Given the description of an element on the screen output the (x, y) to click on. 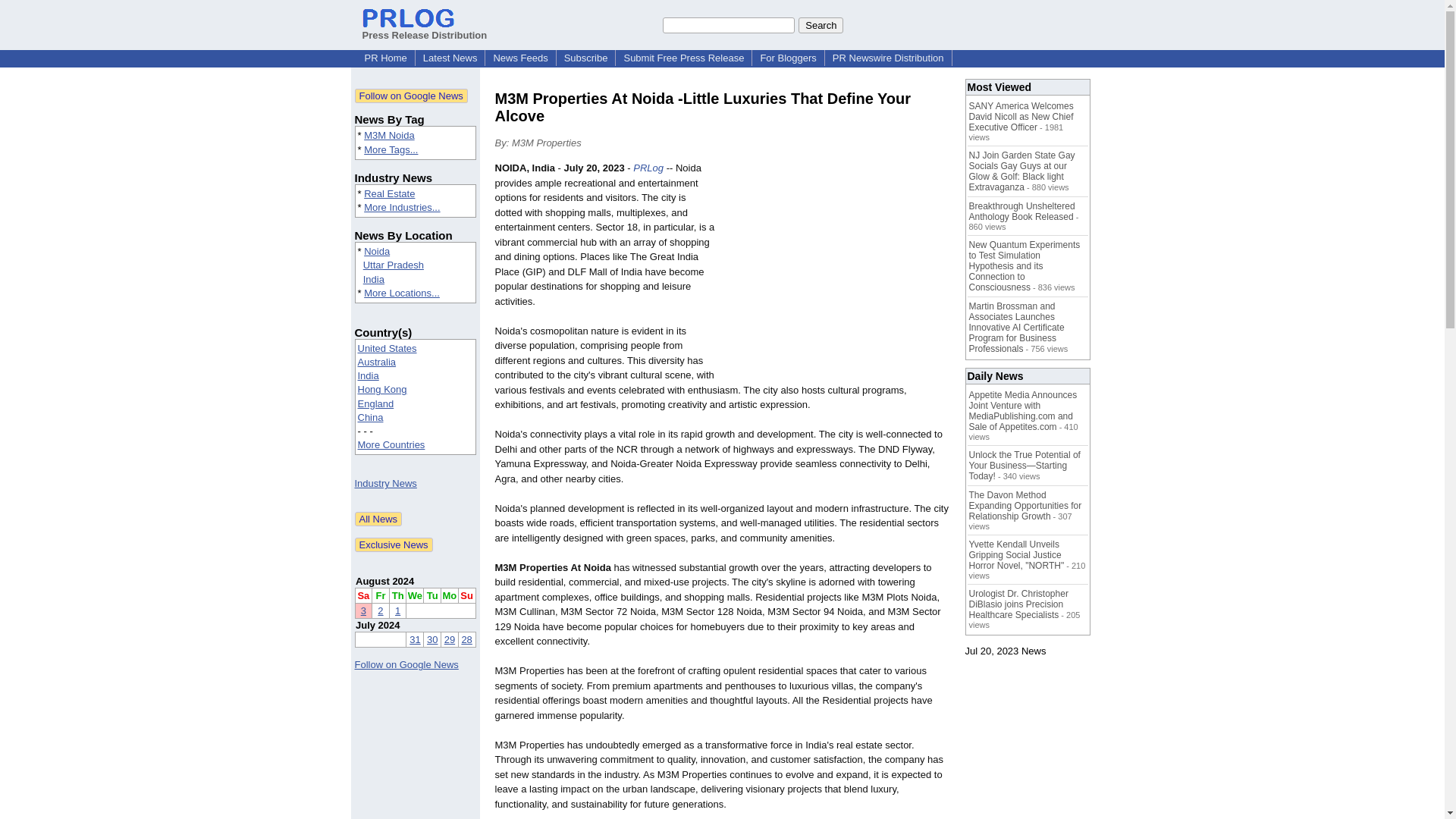
Submit Free Press Release (683, 57)
July 2024 (377, 624)
Subscribe (585, 57)
Exclusive News (393, 544)
M3M Noida (388, 134)
Click on an option to filter or browse by that option (415, 397)
Latest News (449, 57)
Search (820, 24)
PR Home (385, 57)
England (376, 403)
